Given the description of an element on the screen output the (x, y) to click on. 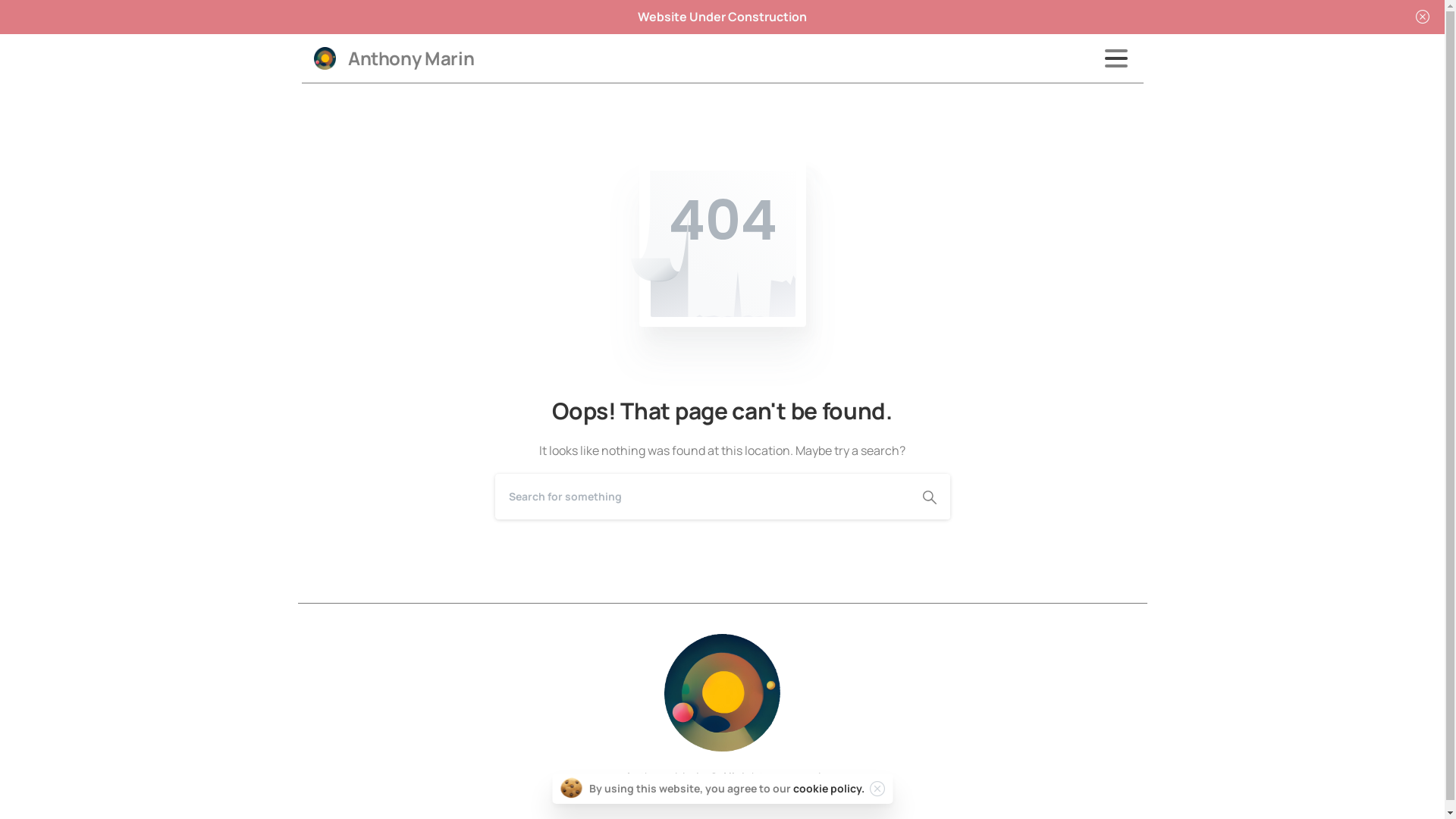
cookie policy. Element type: text (827, 788)
Anthony Marin Element type: text (410, 58)
Close Element type: hover (1422, 17)
Shape Element type: text (928, 495)
